Given the description of an element on the screen output the (x, y) to click on. 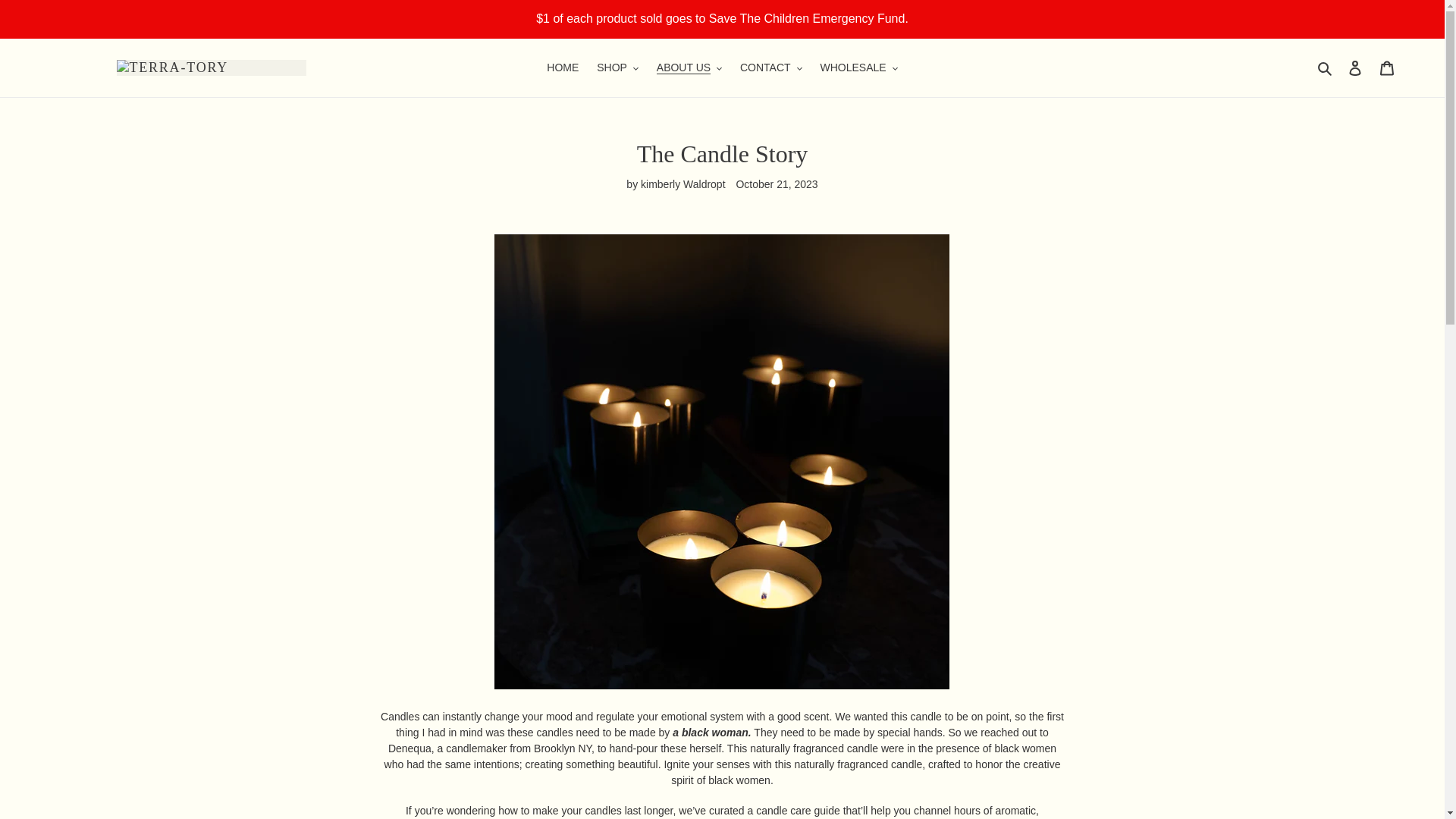
ABOUT US (689, 67)
SHOP (617, 67)
Cart (1387, 67)
WHOLESALE (858, 67)
CONTACT (770, 67)
Log in (1355, 67)
HOME (562, 67)
Search (1326, 67)
